Given the description of an element on the screen output the (x, y) to click on. 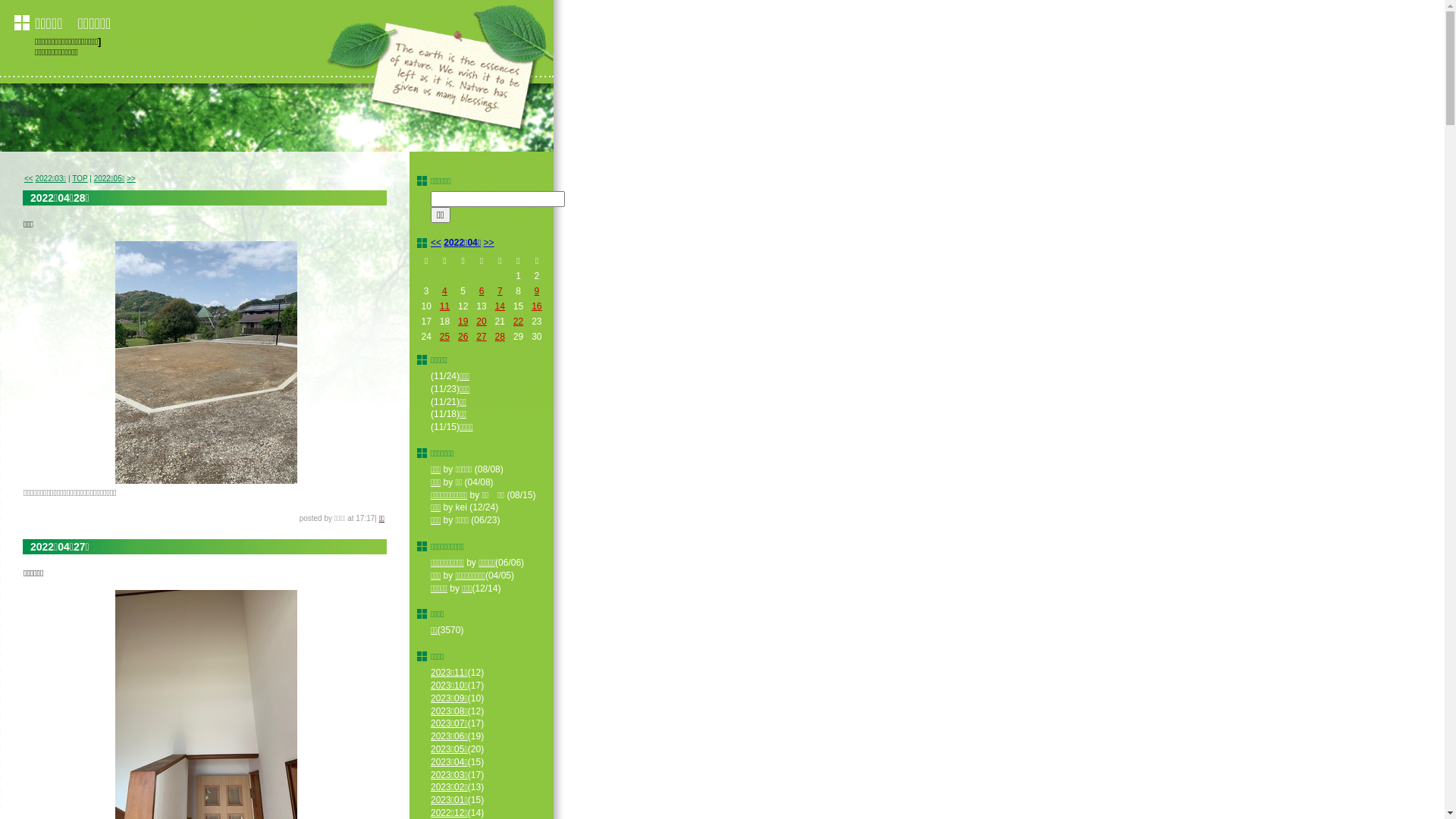
7 Element type: text (499, 290)
25 Element type: text (444, 336)
26 Element type: text (462, 336)
19 Element type: text (462, 321)
11 Element type: text (444, 306)
<< Element type: text (435, 242)
27 Element type: text (481, 336)
<< Element type: text (28, 178)
22 Element type: text (518, 321)
14 Element type: text (500, 306)
4 Element type: text (444, 290)
>> Element type: text (488, 242)
6 Element type: text (481, 290)
16 Element type: text (536, 306)
20 Element type: text (481, 321)
>> Element type: text (130, 178)
9 Element type: text (536, 290)
28 Element type: text (500, 336)
TOP Element type: text (79, 178)
